Given the description of an element on the screen output the (x, y) to click on. 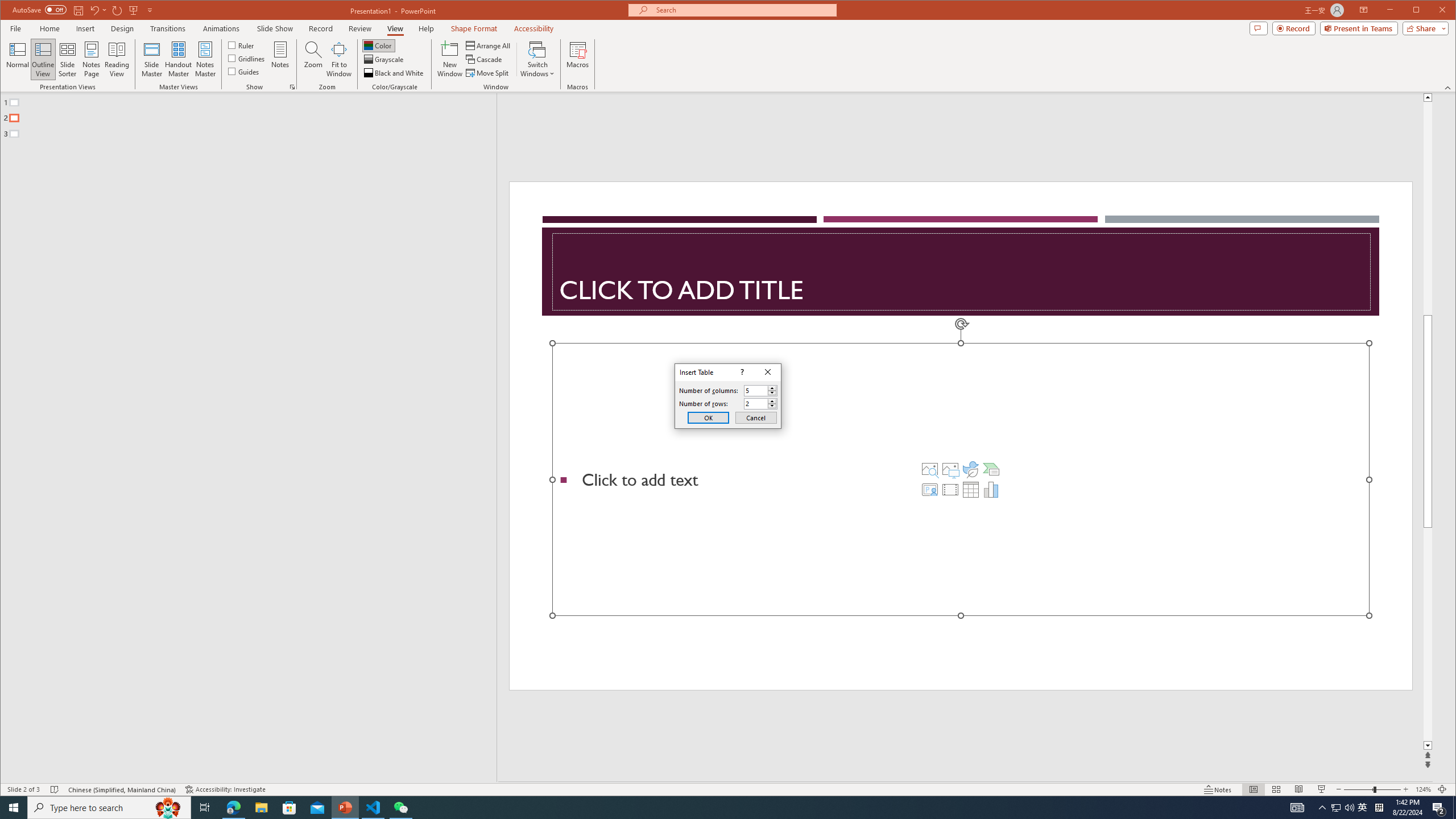
Title TextBox (960, 271)
New Window (450, 59)
AutomationID: 4105 (1297, 807)
Q2790: 100% (1349, 807)
Notes Page (91, 59)
Notes Master (204, 59)
Number of rows (755, 403)
Guides (243, 70)
